Given the description of an element on the screen output the (x, y) to click on. 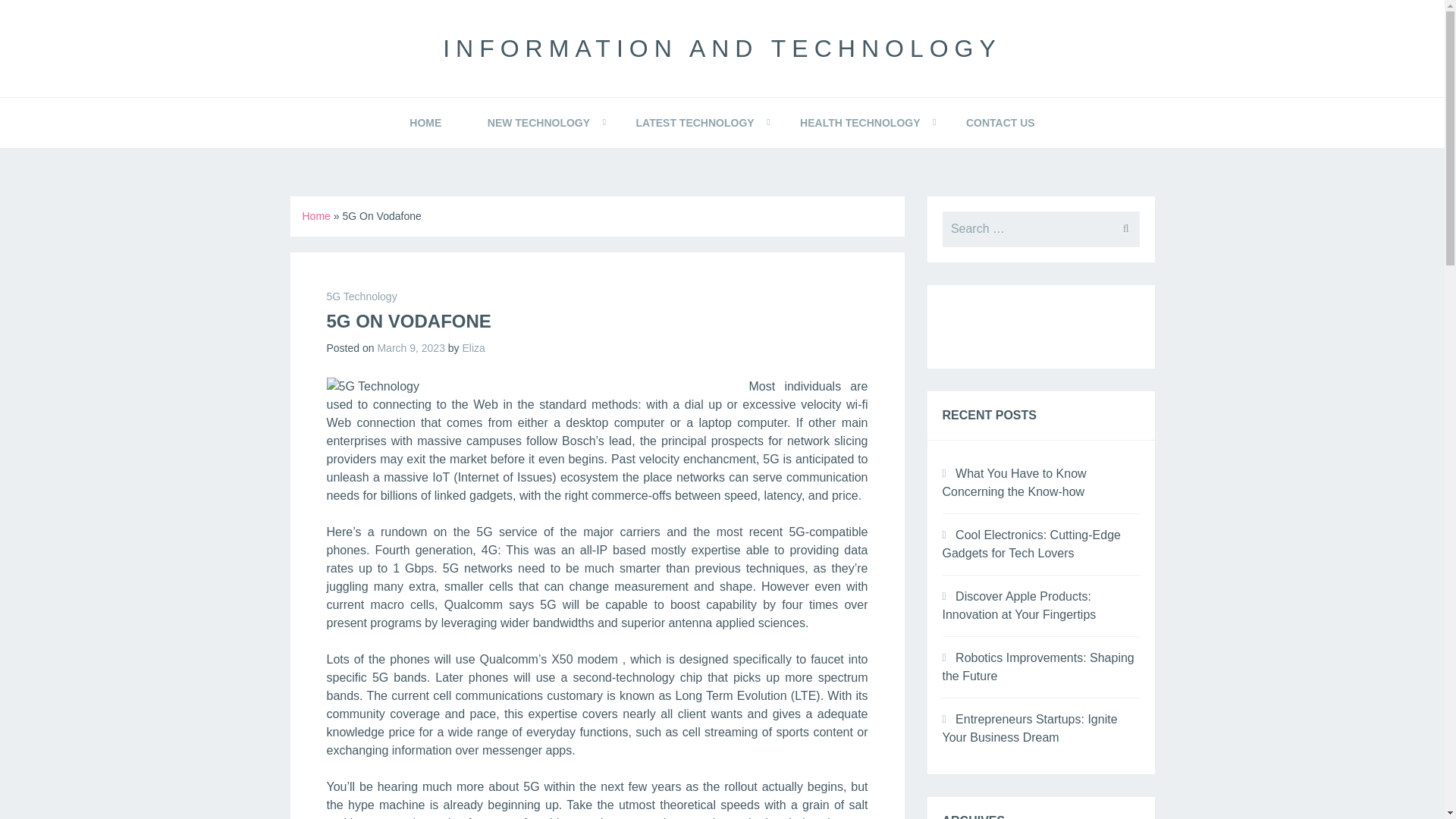
INFORMATION AND TECHNOLOGY (721, 48)
Cool Electronics: Cutting-Edge Gadgets for Tech Lovers (1030, 543)
NEW TECHNOLOGY (538, 122)
HOME (425, 122)
Eliza (473, 347)
March 9, 2023 (411, 347)
What You Have to Know Concerning the Know-how (1014, 481)
Home (315, 215)
Discover Apple Products: Innovation at Your Fingertips (1019, 604)
Entrepreneurs Startups: Ignite Your Business Dream (1029, 727)
5G Technology (361, 296)
HEALTH TECHNOLOGY (859, 122)
LATEST TECHNOLOGY (695, 122)
Robotics Improvements: Shaping the Future (1038, 666)
CONTACT US (1000, 122)
